Given the description of an element on the screen output the (x, y) to click on. 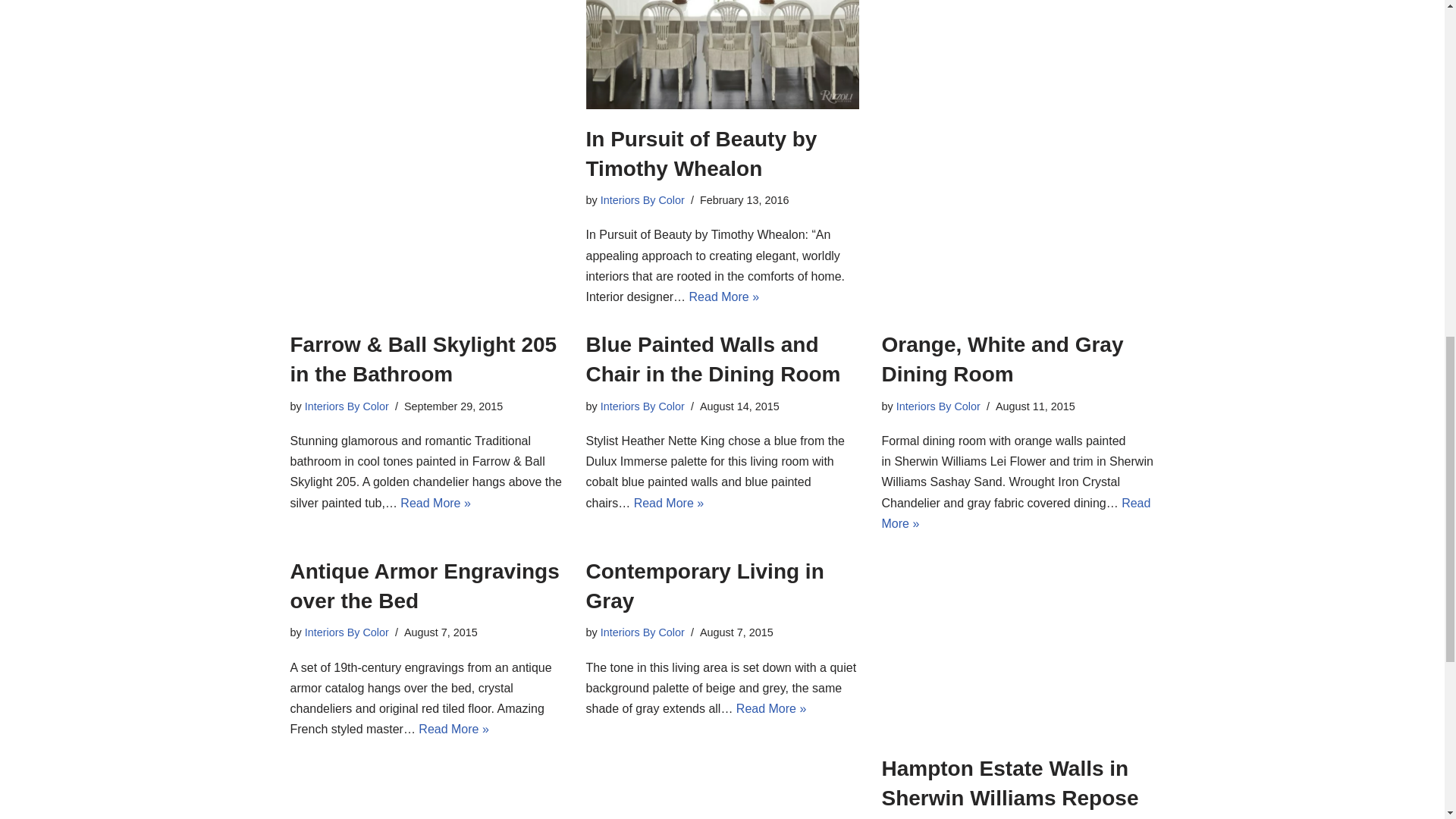
Posts by Interiors By Color (641, 406)
In Pursuit of Beauty by Timothy Whealon (722, 54)
Posts by Interiors By Color (346, 632)
Posts by Interiors By Color (641, 200)
Hampton Estate Walls in Sherwin Williams Repose Gray (1017, 647)
Posts by Interiors By Color (641, 632)
Posts by Interiors By Color (937, 406)
Posts by Interiors By Color (346, 406)
